Given the description of an element on the screen output the (x, y) to click on. 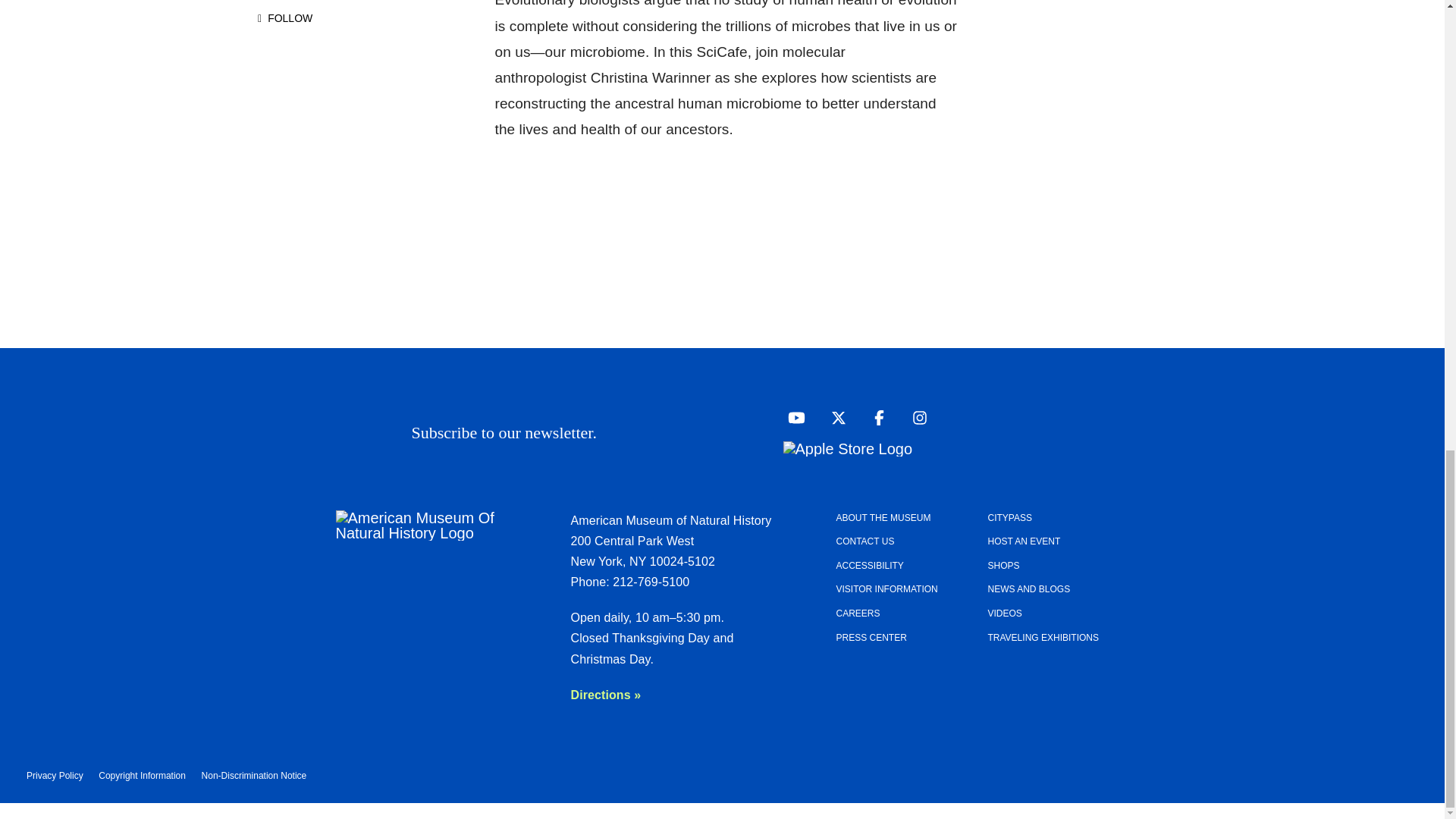
Download App on the Apple Store (847, 447)
Subscribe to our newsletter. (691, 432)
Twitter Profile (834, 417)
Instagram Profile (914, 417)
YouTube Channel (792, 417)
Facebook Profile (874, 417)
